Given the description of an element on the screen output the (x, y) to click on. 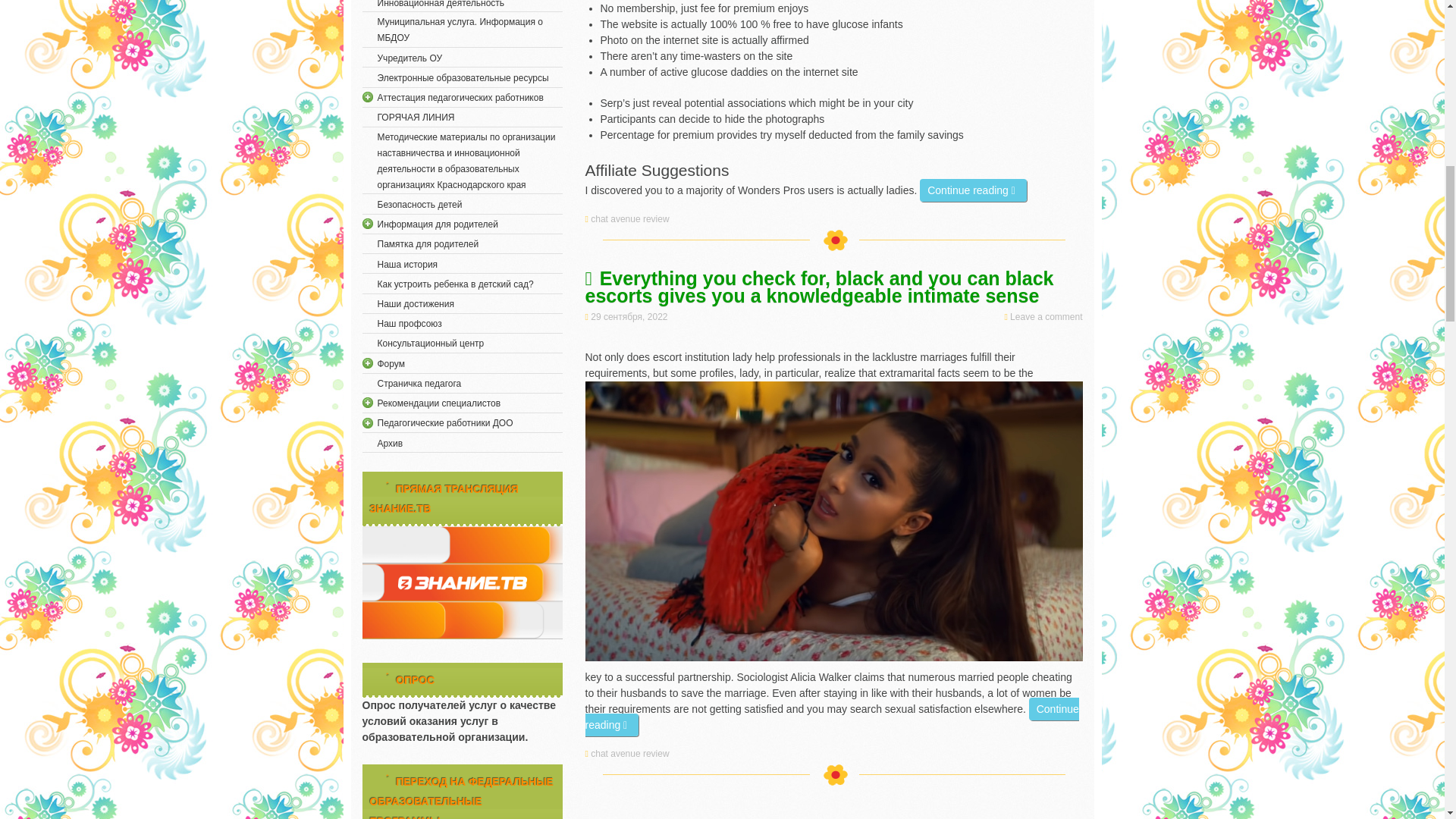
chat avenue review (631, 753)
chat avenue review (631, 218)
Leave a comment (1045, 317)
